Given the description of an element on the screen output the (x, y) to click on. 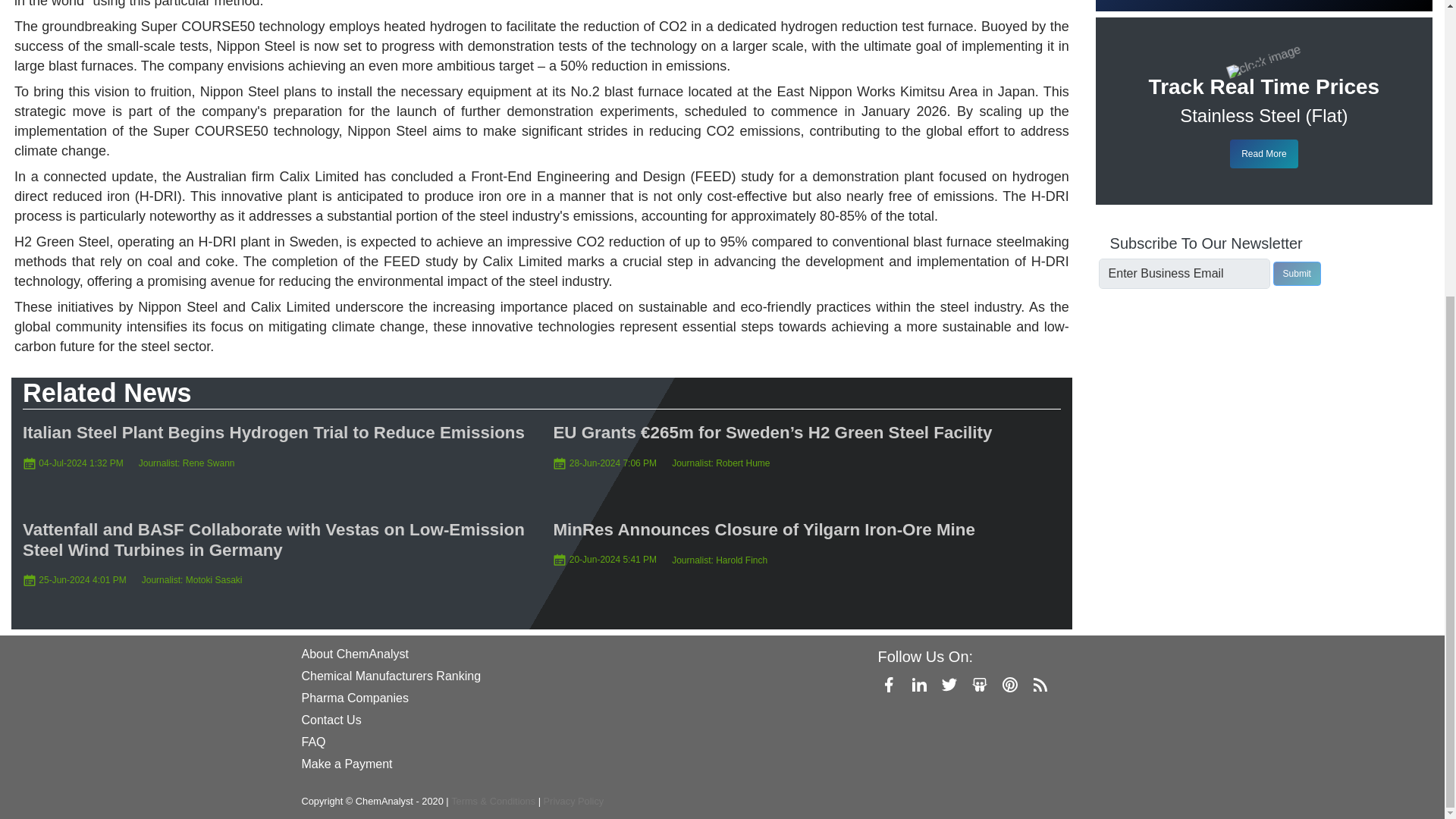
Submit (1296, 273)
